Given the description of an element on the screen output the (x, y) to click on. 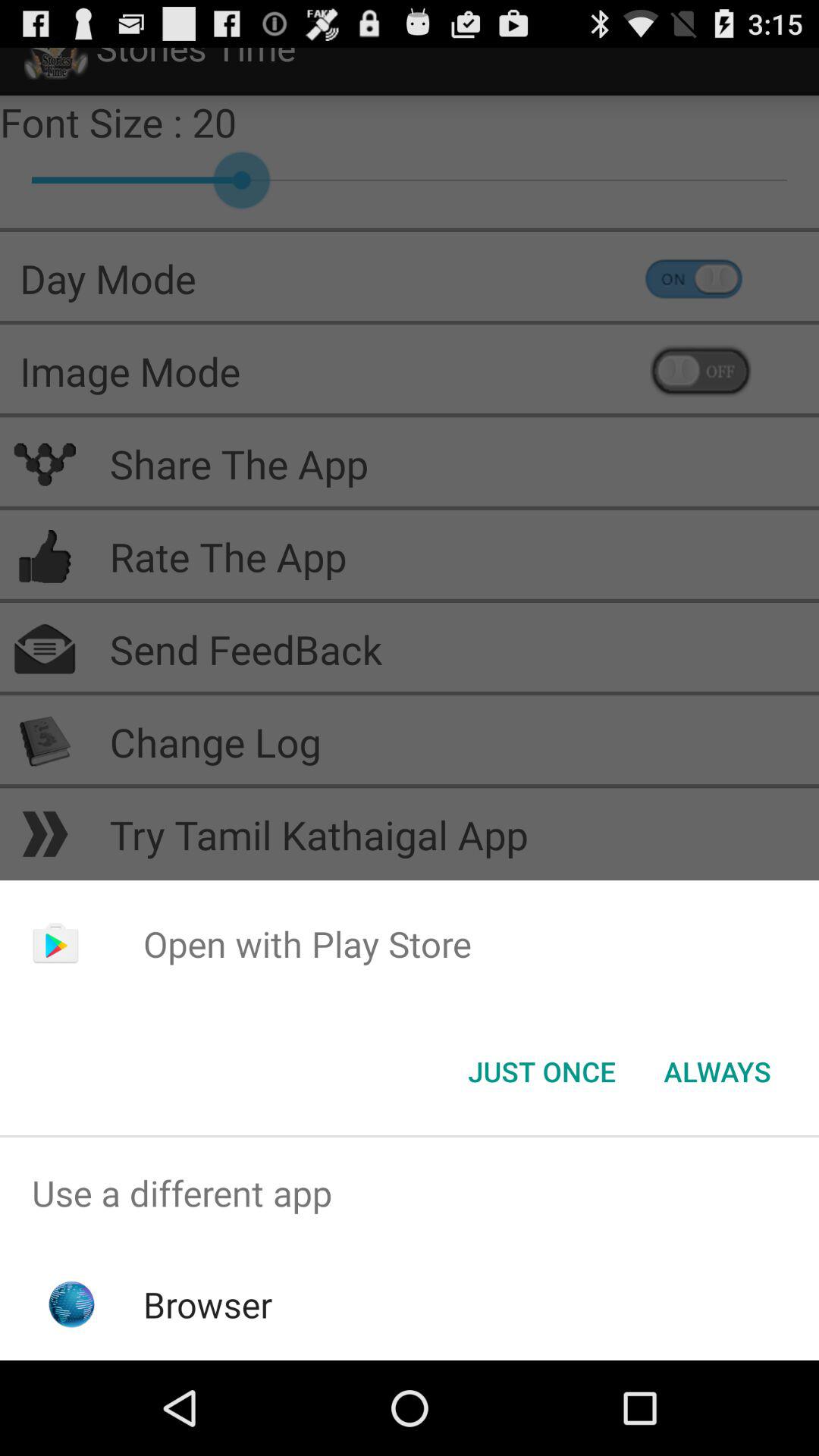
press item above the browser (409, 1192)
